Given the description of an element on the screen output the (x, y) to click on. 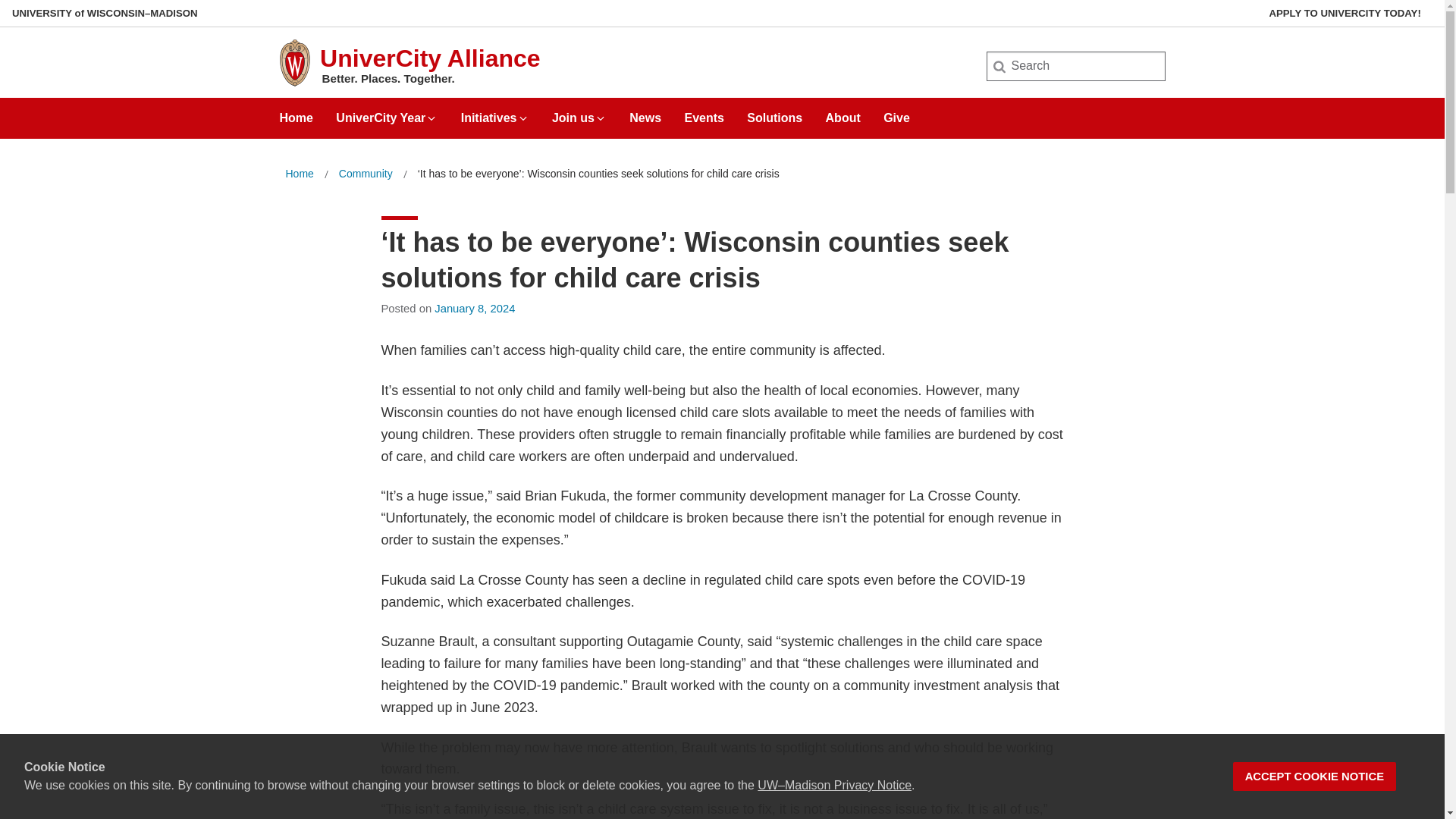
Skip to main content (3, 3)
Community (366, 173)
Search (37, 16)
About (842, 112)
UniverCity Alliance (430, 58)
January 8, 2024 (474, 308)
APPLY TO UNIVERCITY TODAY! (1345, 13)
Home (299, 173)
Home (299, 173)
Community (366, 173)
Join us Expand (579, 112)
Events (703, 112)
UniverCity Year Expand (387, 112)
Expand (600, 118)
Expand (431, 118)
